Given the description of an element on the screen output the (x, y) to click on. 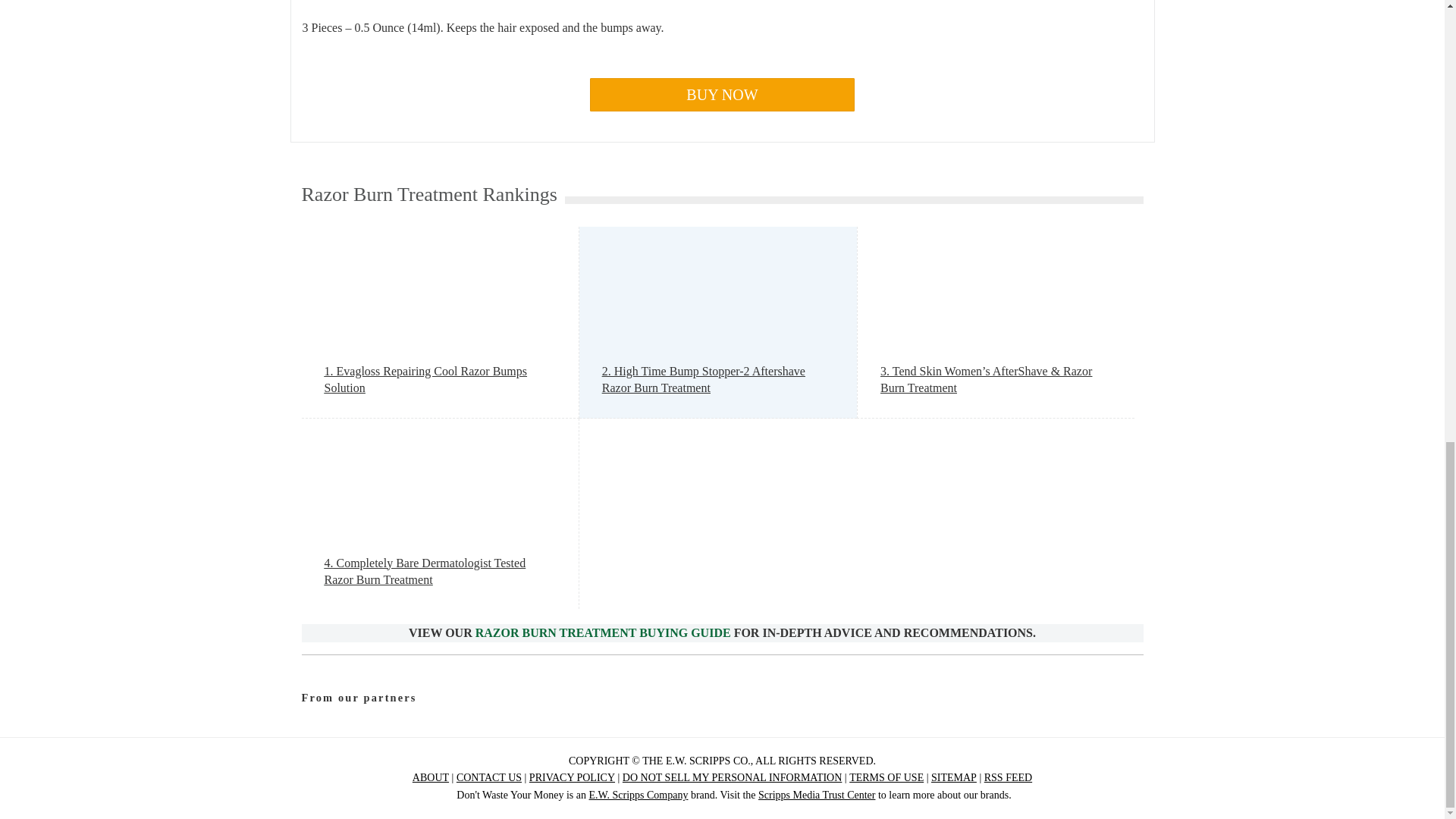
2. High Time Bump Stopper-2 Aftershave Razor Burn Treatment (718, 380)
BUY NOW (721, 94)
1. Evagloss Repairing Cool Razor Bumps Solution (440, 380)
